Given the description of an element on the screen output the (x, y) to click on. 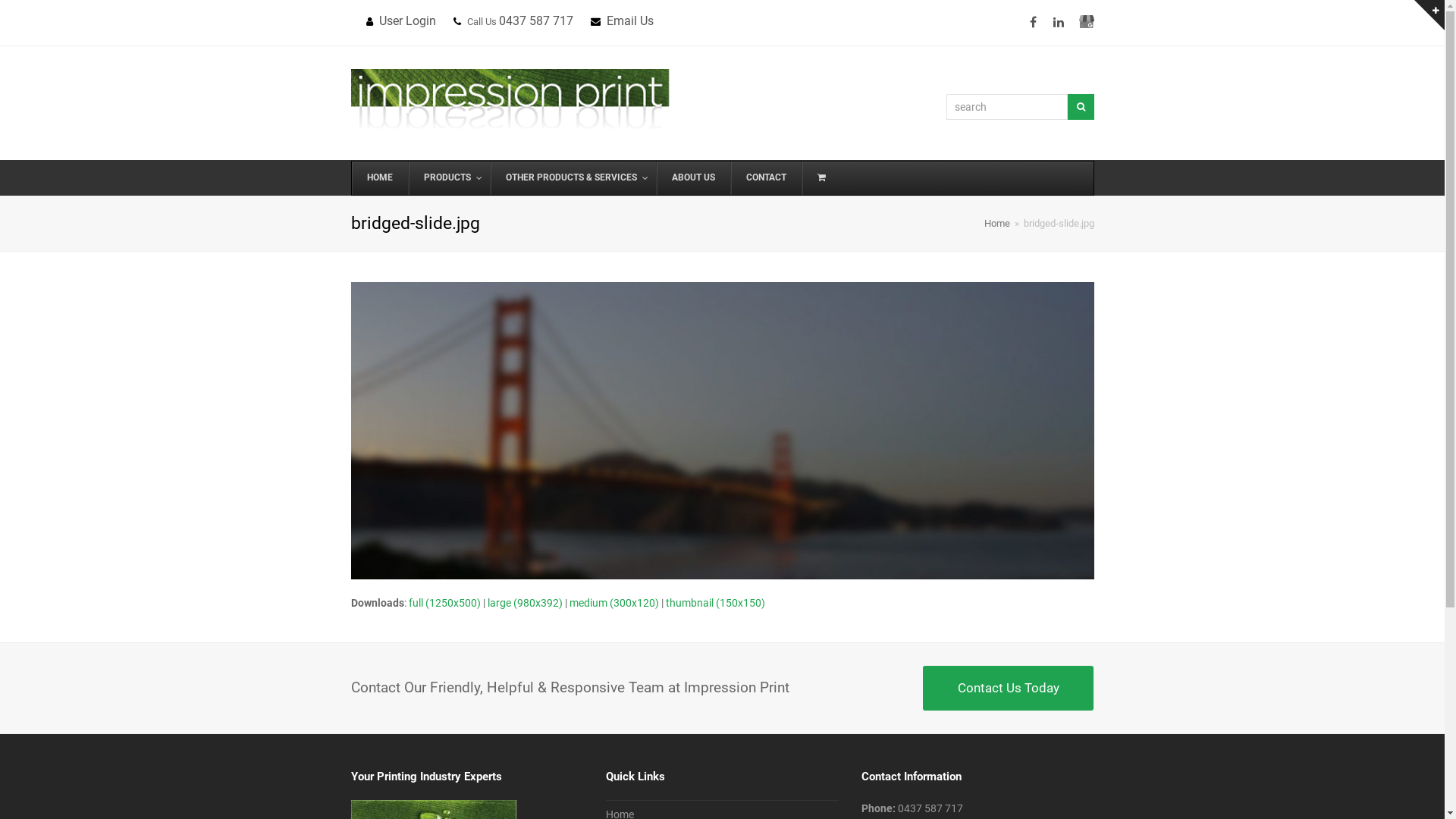
Home Element type: text (997, 223)
Contact Us Today Element type: text (1007, 687)
Search Element type: text (1080, 106)
thumbnail (150x150) Element type: text (715, 602)
medium (300x120) Element type: text (613, 602)
User Login Element type: text (407, 20)
large (980x392) Element type: text (523, 602)
Facebook Element type: text (1032, 22)
0437 587 717 Element type: text (535, 20)
CONTACT Element type: text (764, 177)
0437 587 717 Element type: text (930, 808)
LinkedIn Element type: text (1058, 22)
PRODUCTS Element type: text (448, 177)
HOME Element type: text (379, 177)
full (1250x500) Element type: text (443, 602)
ABOUT US Element type: text (692, 177)
Email Us Element type: text (629, 20)
OTHER PRODUCTS & SERVICES Element type: text (572, 177)
